Given the description of an element on the screen output the (x, y) to click on. 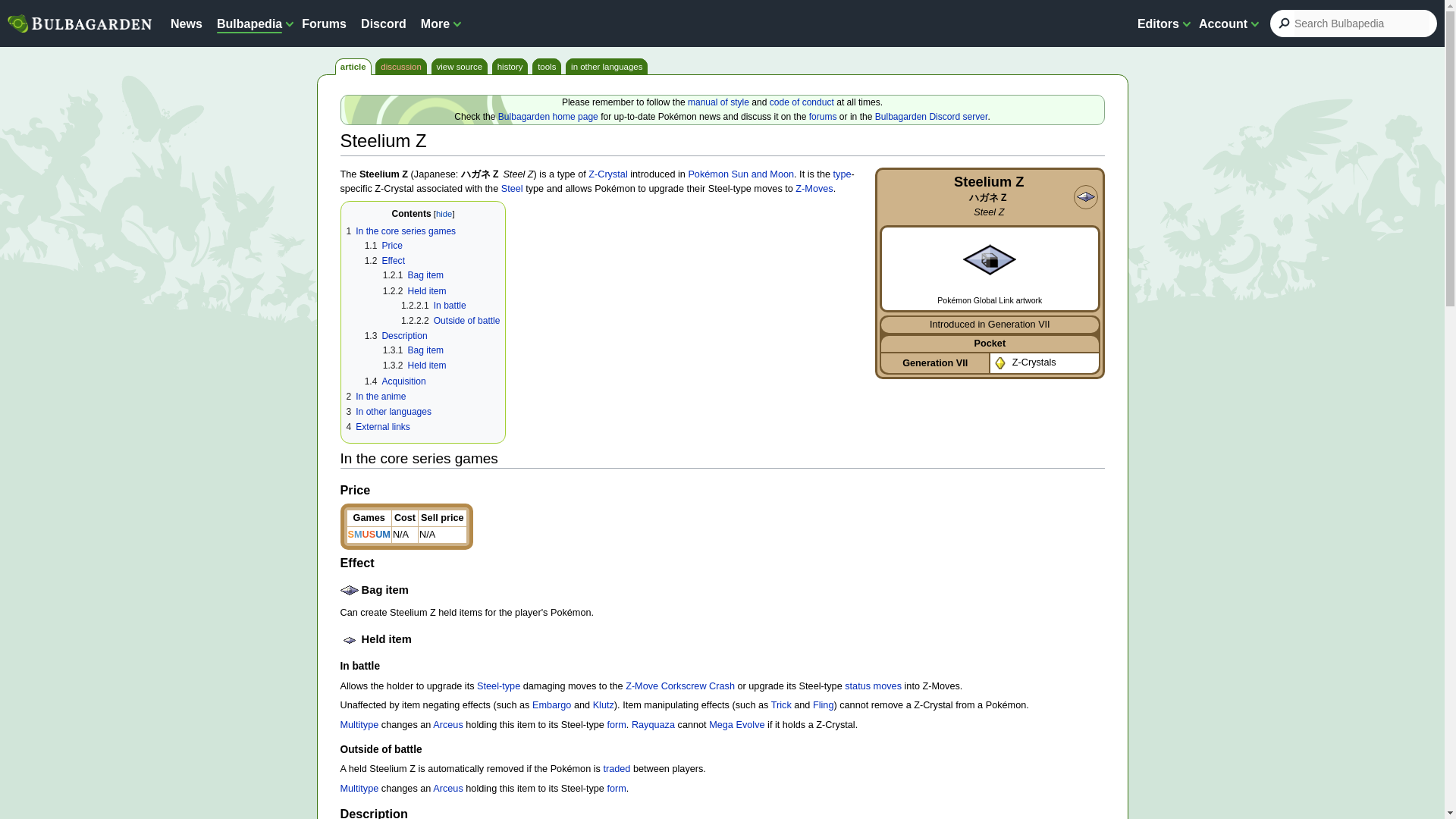
Z-Move (642, 685)
Bulbapedia:Manual of style (718, 102)
Type (841, 173)
Z-Move (813, 188)
Bulbapedia:Code of conduct (802, 102)
Z-Crystal (607, 173)
Bulbapedia (249, 22)
Status move (872, 685)
Steelium Z (989, 258)
